Given the description of an element on the screen output the (x, y) to click on. 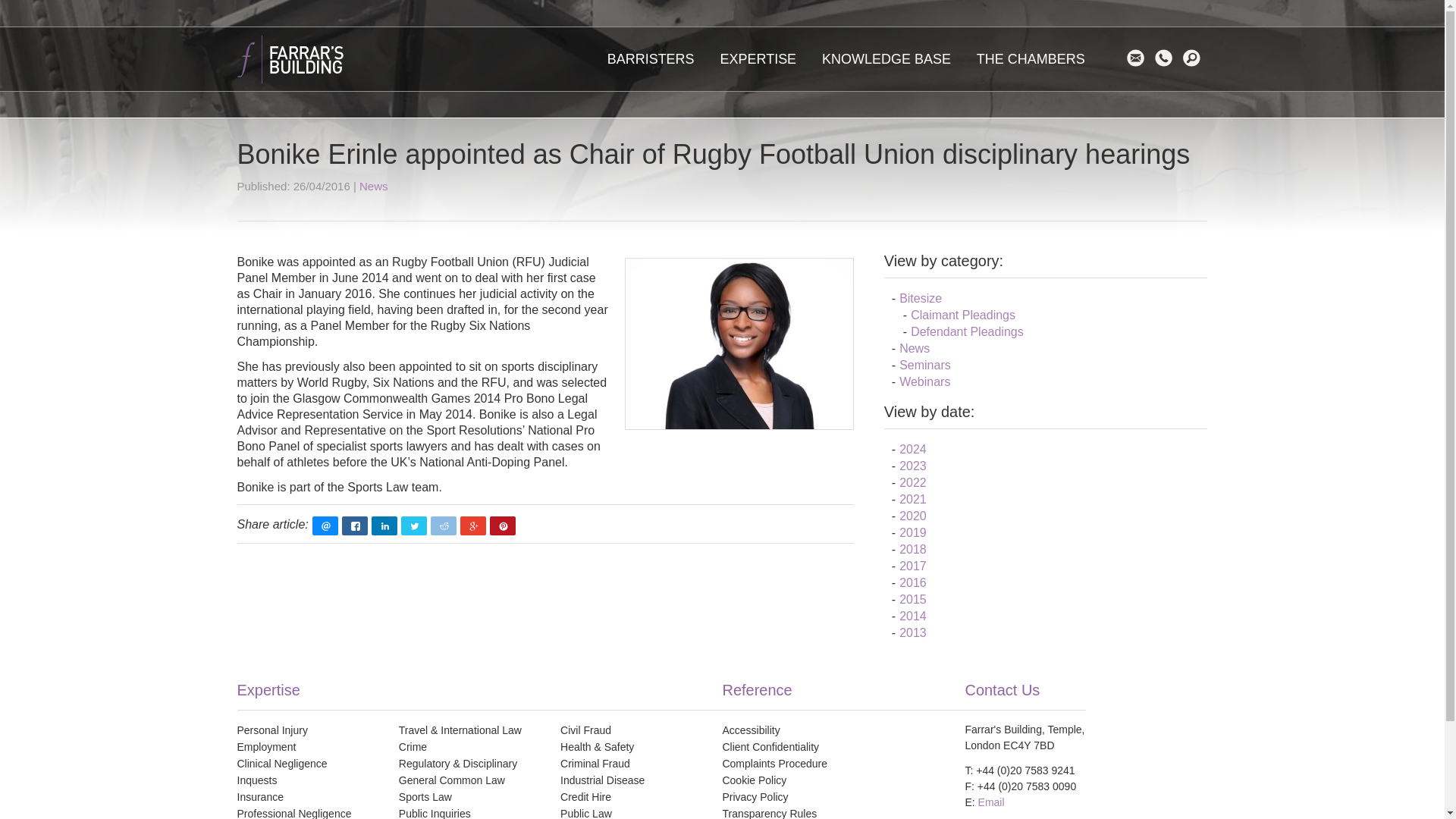
KNOWLEDGE BASE (886, 58)
Contact Us (1166, 57)
EMAIL (1138, 57)
THE CHAMBERS (1030, 58)
SEARCH (1195, 57)
BARRISTERS (650, 58)
EXPERTISE (757, 58)
CONTACT (1166, 57)
Email Us (1138, 57)
